Given the description of an element on the screen output the (x, y) to click on. 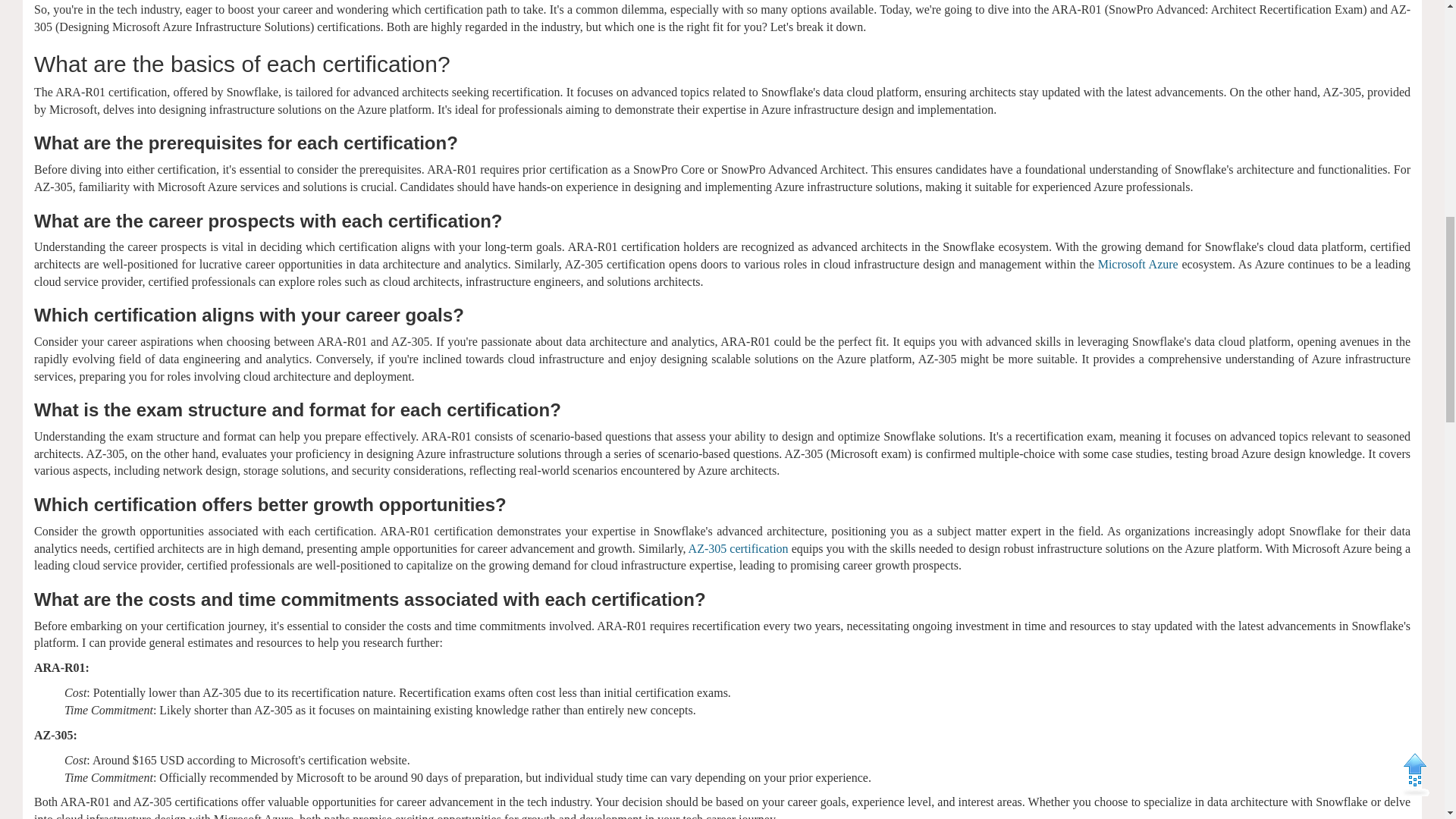
Microsoft Azure (1137, 264)
AZ-305 certification (738, 548)
